Given the description of an element on the screen output the (x, y) to click on. 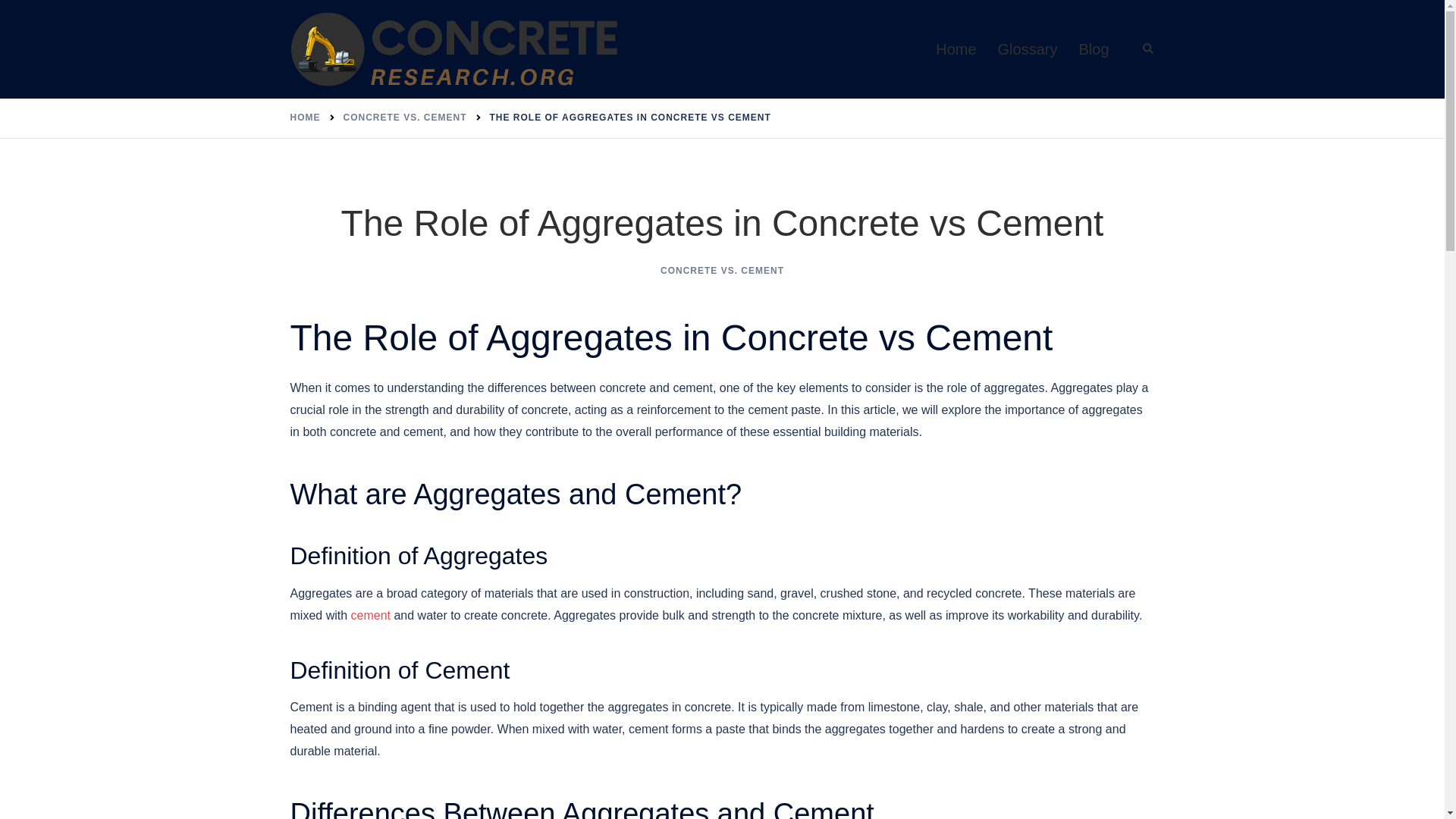
cement (370, 615)
Blog (1093, 49)
HOME (304, 117)
Glossary (1027, 49)
Home (955, 49)
cement (370, 615)
CONCRETE VS. CEMENT (722, 270)
CONCRETE VS. CEMENT (403, 117)
ConcreteResearch.org (454, 47)
Search (1147, 49)
